Given the description of an element on the screen output the (x, y) to click on. 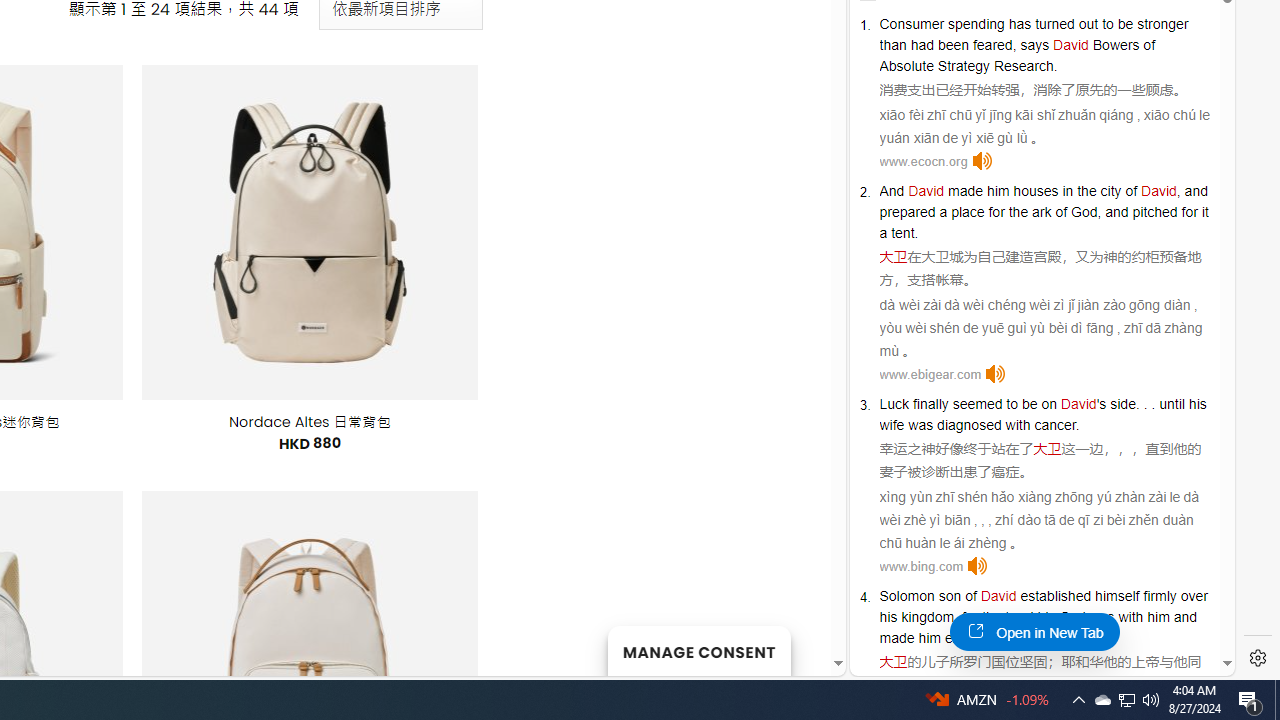
on (1048, 403)
until (1171, 403)
Consumer (911, 23)
seemed (977, 403)
for (1189, 211)
David (998, 596)
finally (929, 403)
and (1185, 616)
